Given the description of an element on the screen output the (x, y) to click on. 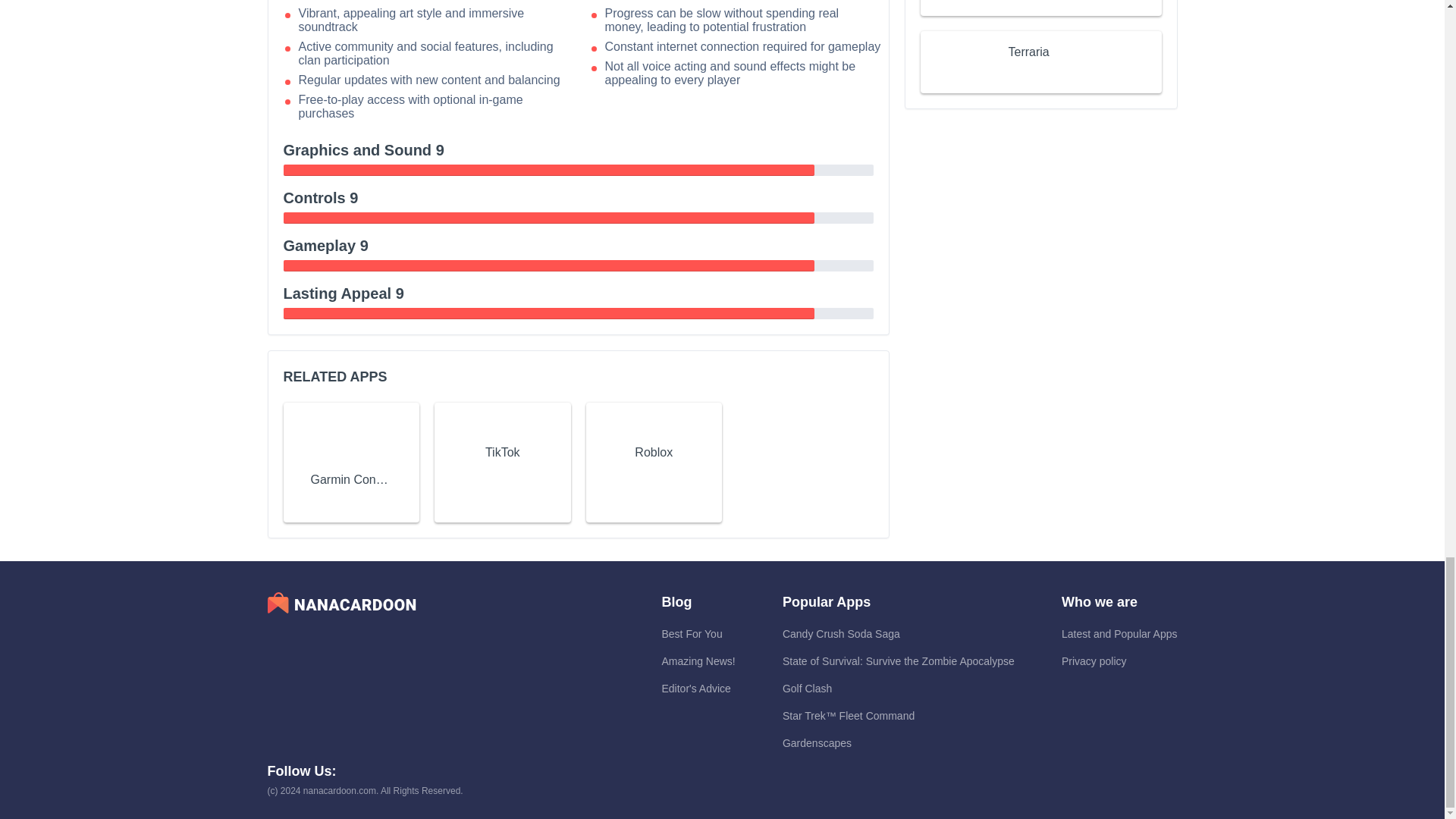
Privacy policy (1093, 661)
State of Survival: Survive the Zombie Apocalypse (898, 661)
Roblox (653, 452)
Golf Clash (807, 688)
Latest and Popular Apps (1119, 633)
User rating 4.6 (1042, 1)
Amazing News! (698, 661)
Gardenscapes (817, 743)
Editor's Advice (695, 688)
Candy Crush Soda Saga (841, 633)
User rating 4.4 (350, 500)
User rating 4.6 (501, 473)
Terraria (1029, 52)
TikTok (501, 452)
User rating 4.1 (1042, 74)
